Given the description of an element on the screen output the (x, y) to click on. 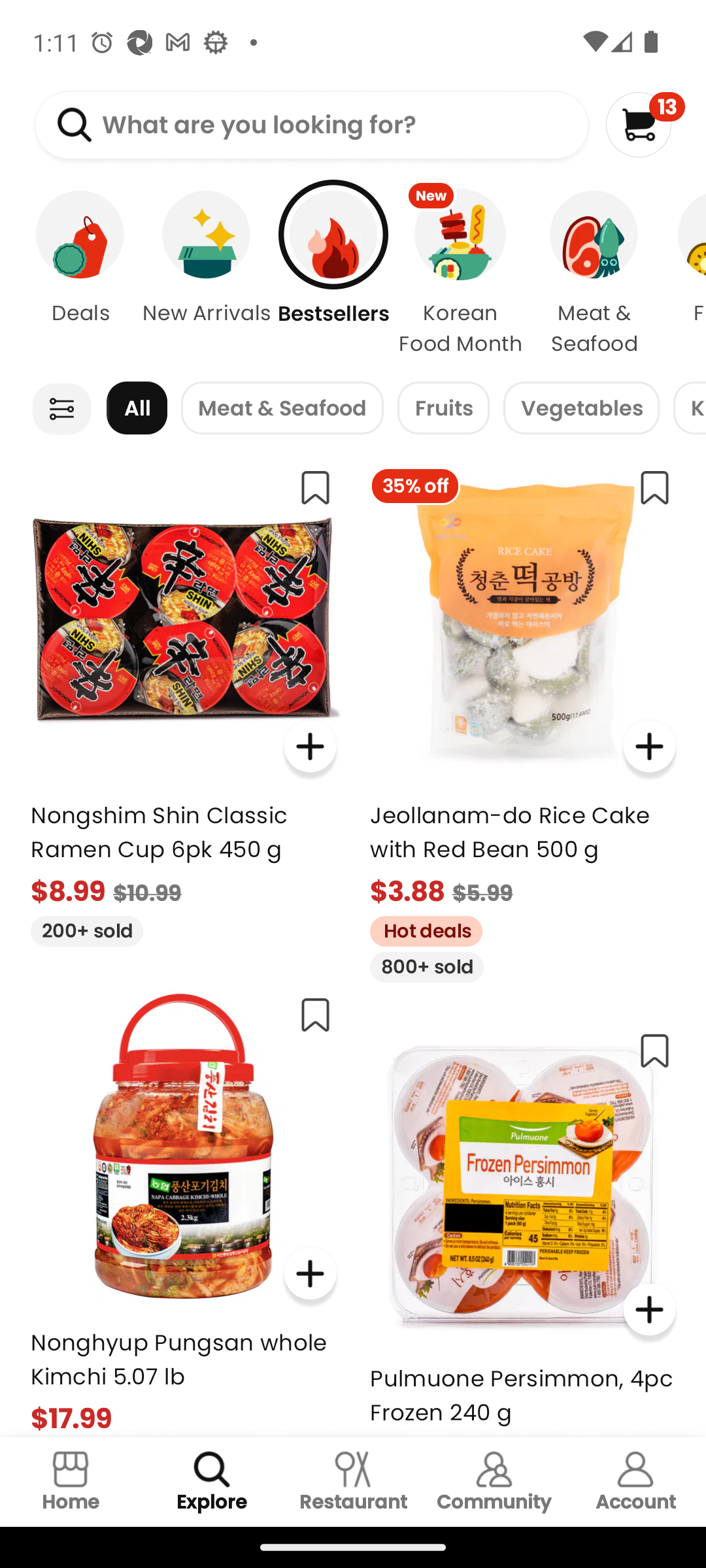
What are you looking for? (311, 124)
13 (644, 124)
Deals (70, 274)
New Arrivals (206, 274)
Bestsellers (333, 274)
New Korean Food Month (460, 274)
Meat & Seafood (594, 274)
All (136, 407)
Meat & Seafood (282, 407)
Fruits (443, 407)
Vegetables (581, 407)
Hot deals (419, 929)
Nonghyup Pungsan whole Kimchi 5.07 lb $17.99 (182, 1208)
Pulmuone Persimmon, 4pc Frozen 240 g $5.99 (522, 1226)
Home (70, 1482)
Explore (211, 1482)
Restaurant (352, 1482)
Community (493, 1482)
Account (635, 1482)
